Given the description of an element on the screen output the (x, y) to click on. 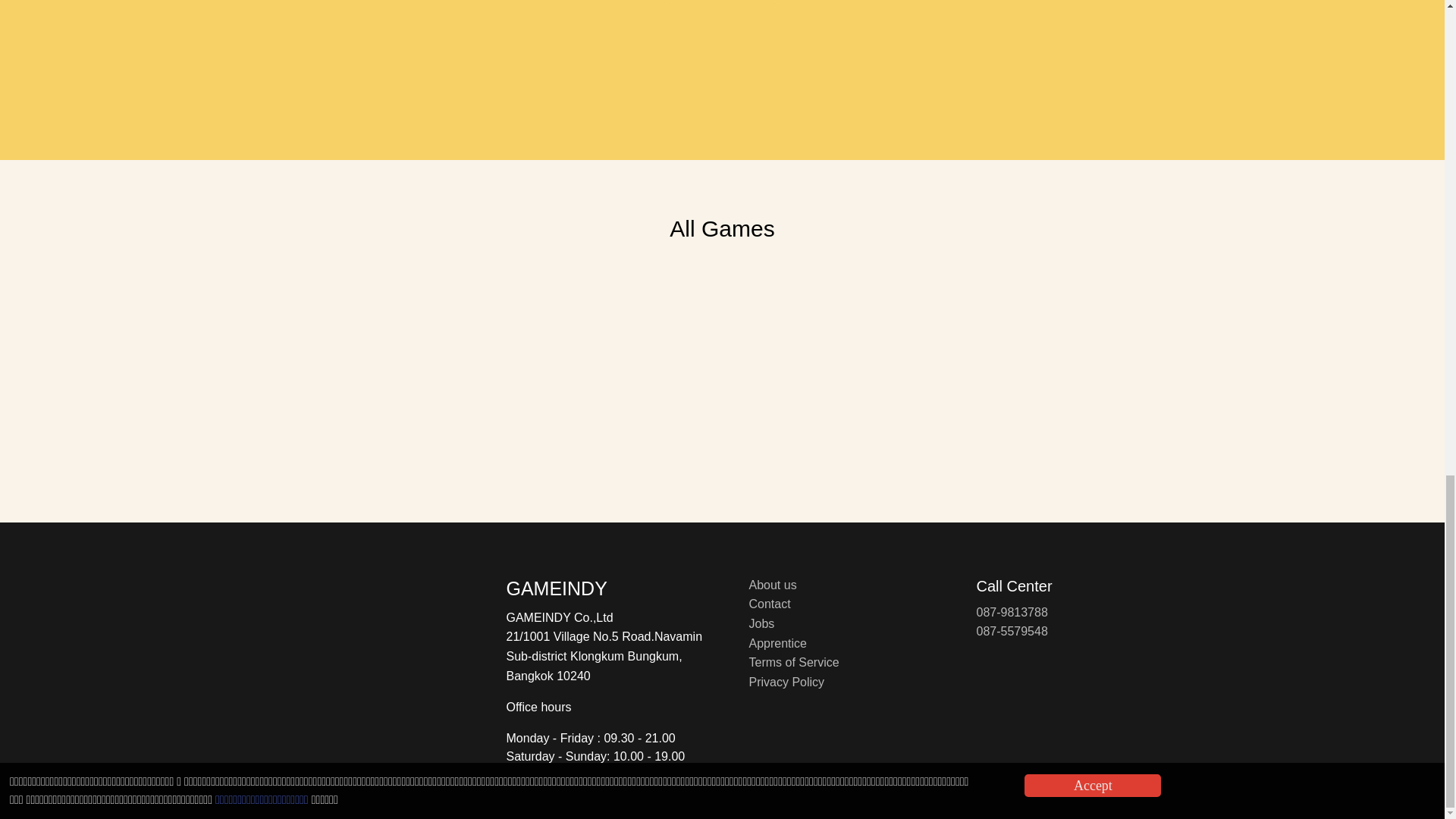
About us (772, 584)
Contact (769, 603)
087-9813788 (1012, 612)
Jobs (761, 623)
087-5579548 (1012, 631)
Terms of Service (794, 662)
Apprentice (778, 643)
Privacy Policy (787, 681)
